Given the description of an element on the screen output the (x, y) to click on. 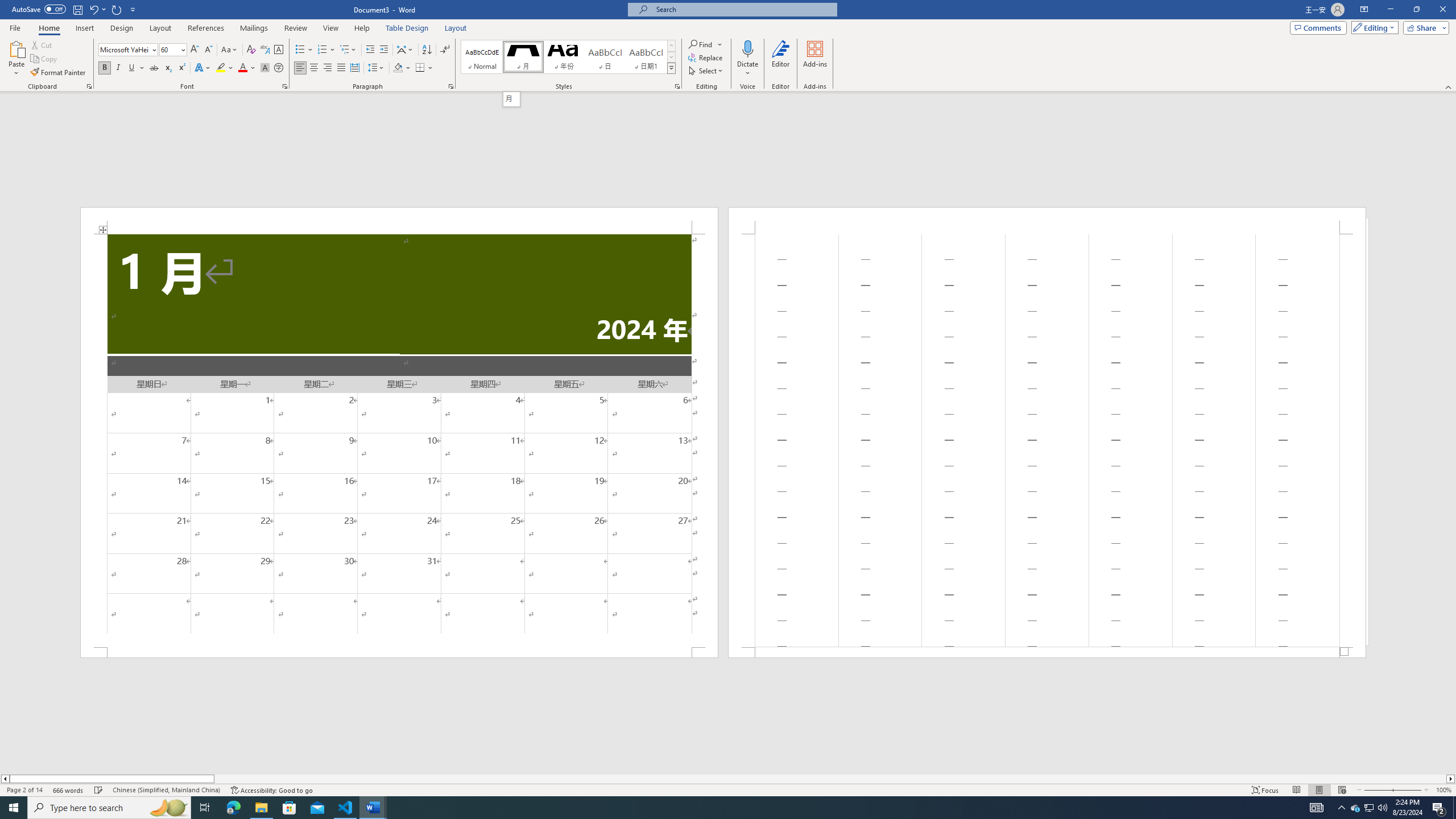
Font Color RGB(255, 0, 0) (241, 67)
Page 1 content (398, 440)
Page right (829, 778)
